Given the description of an element on the screen output the (x, y) to click on. 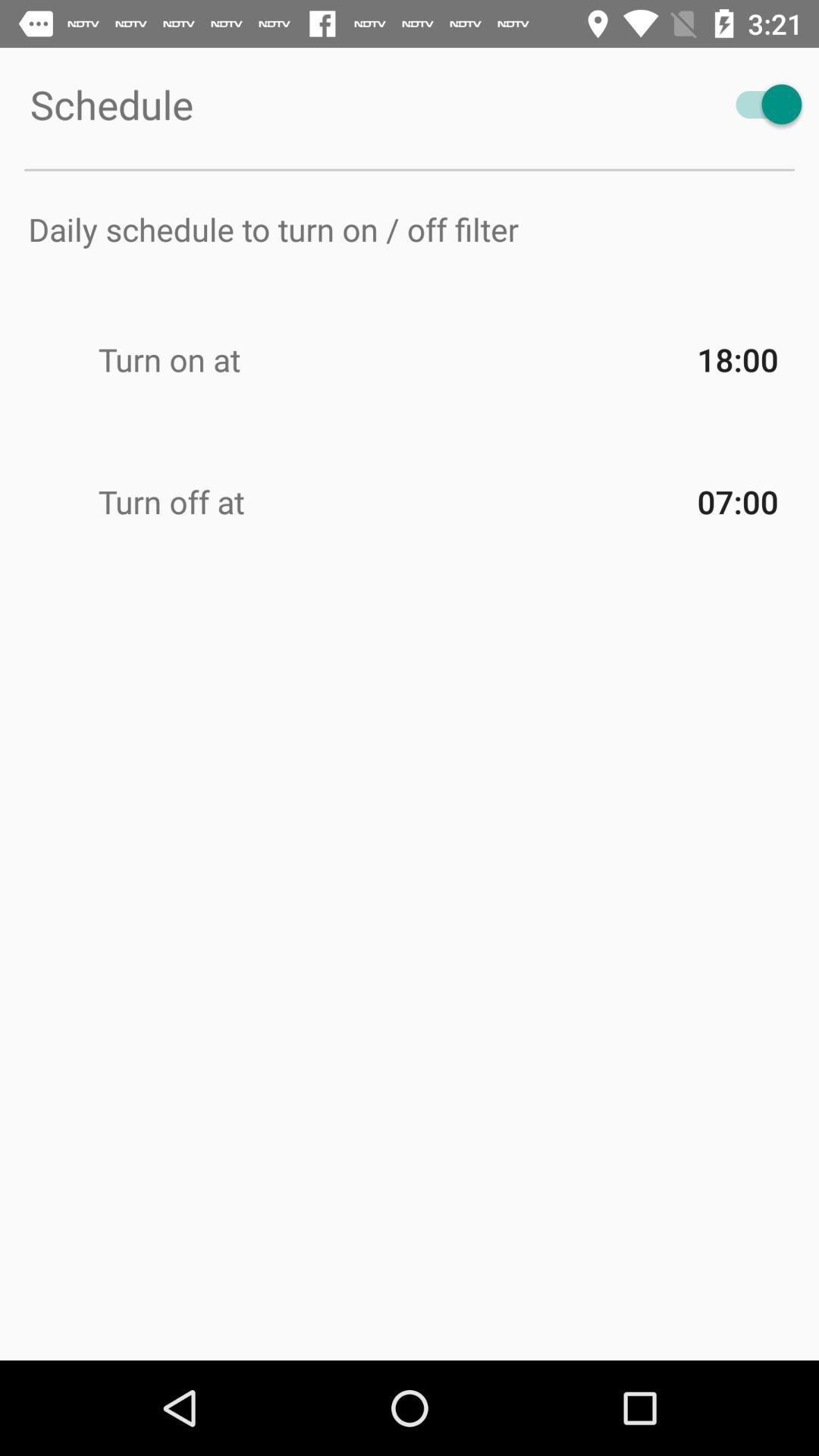
turn off the item at the top right corner (761, 104)
